Given the description of an element on the screen output the (x, y) to click on. 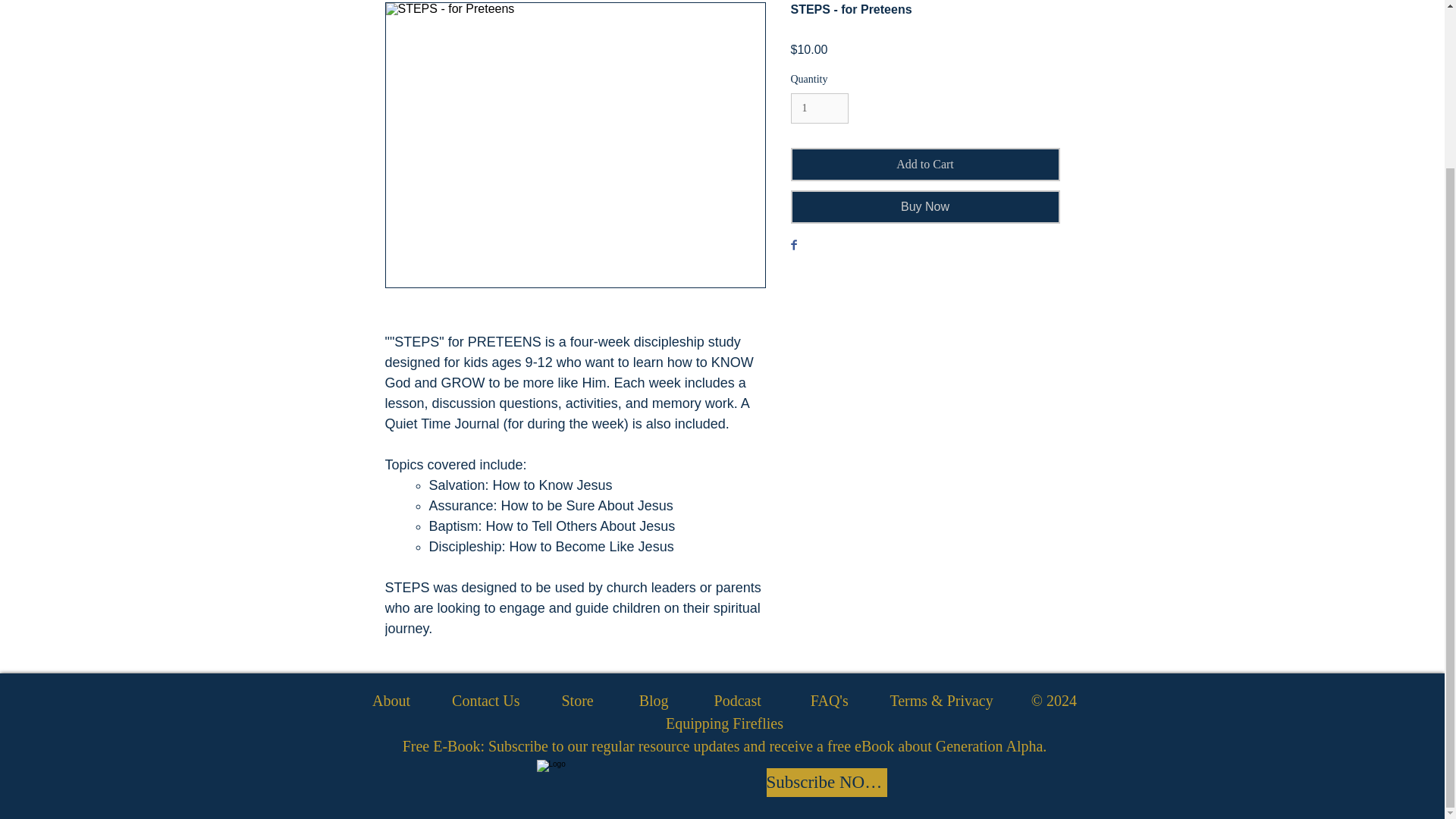
FAQ's (829, 700)
About (391, 700)
Subscribe NOW! (825, 782)
Contact Us (485, 700)
Podcast (737, 700)
Store (576, 700)
FIREFLIES-LOGO-HORIZONTAL-TR-03.png (628, 787)
1 (818, 108)
Blog (653, 700)
Buy Now (924, 206)
